Given the description of an element on the screen output the (x, y) to click on. 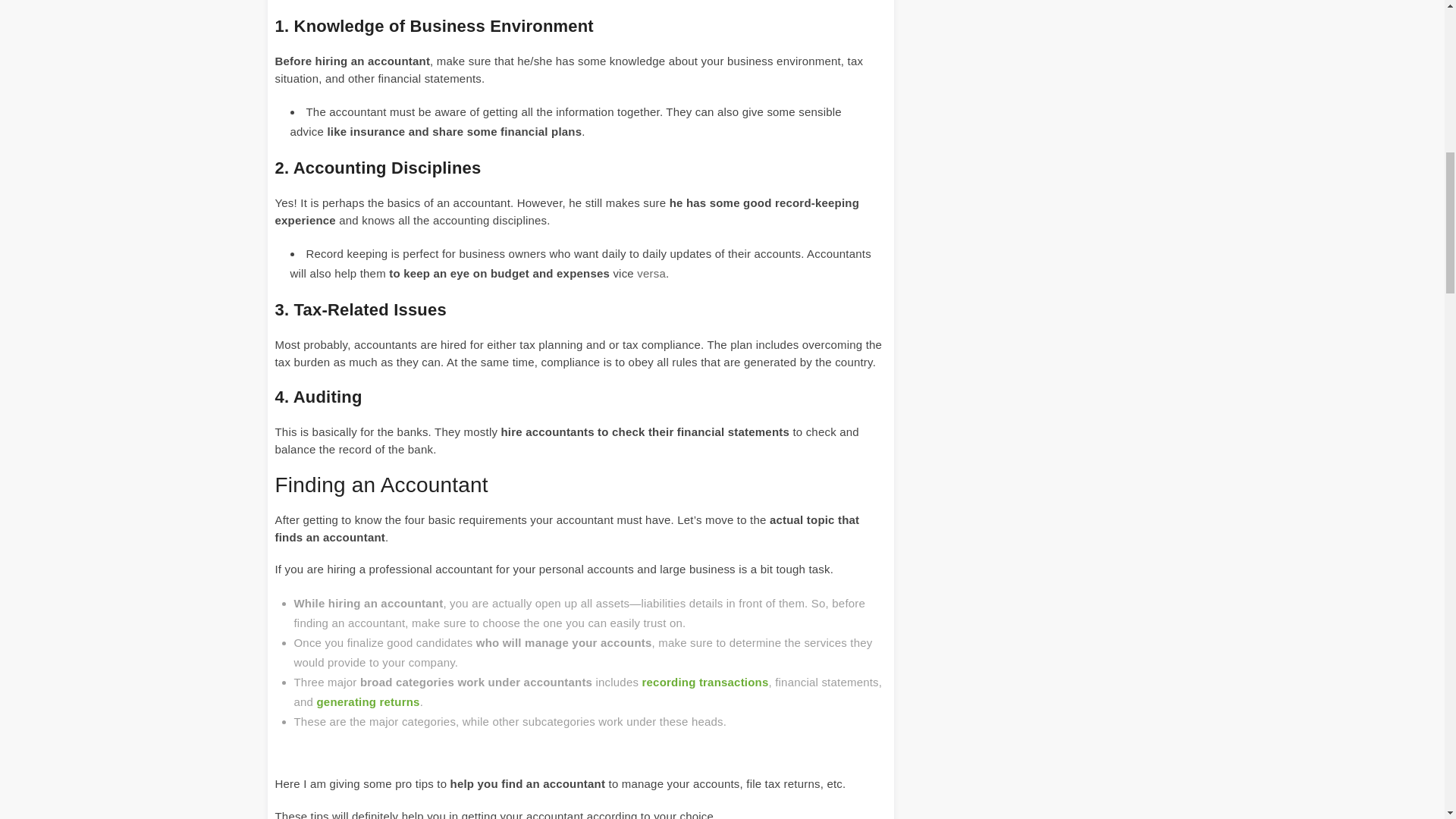
versa (651, 273)
generating returns (368, 700)
recording transactions (705, 680)
